Given the description of an element on the screen output the (x, y) to click on. 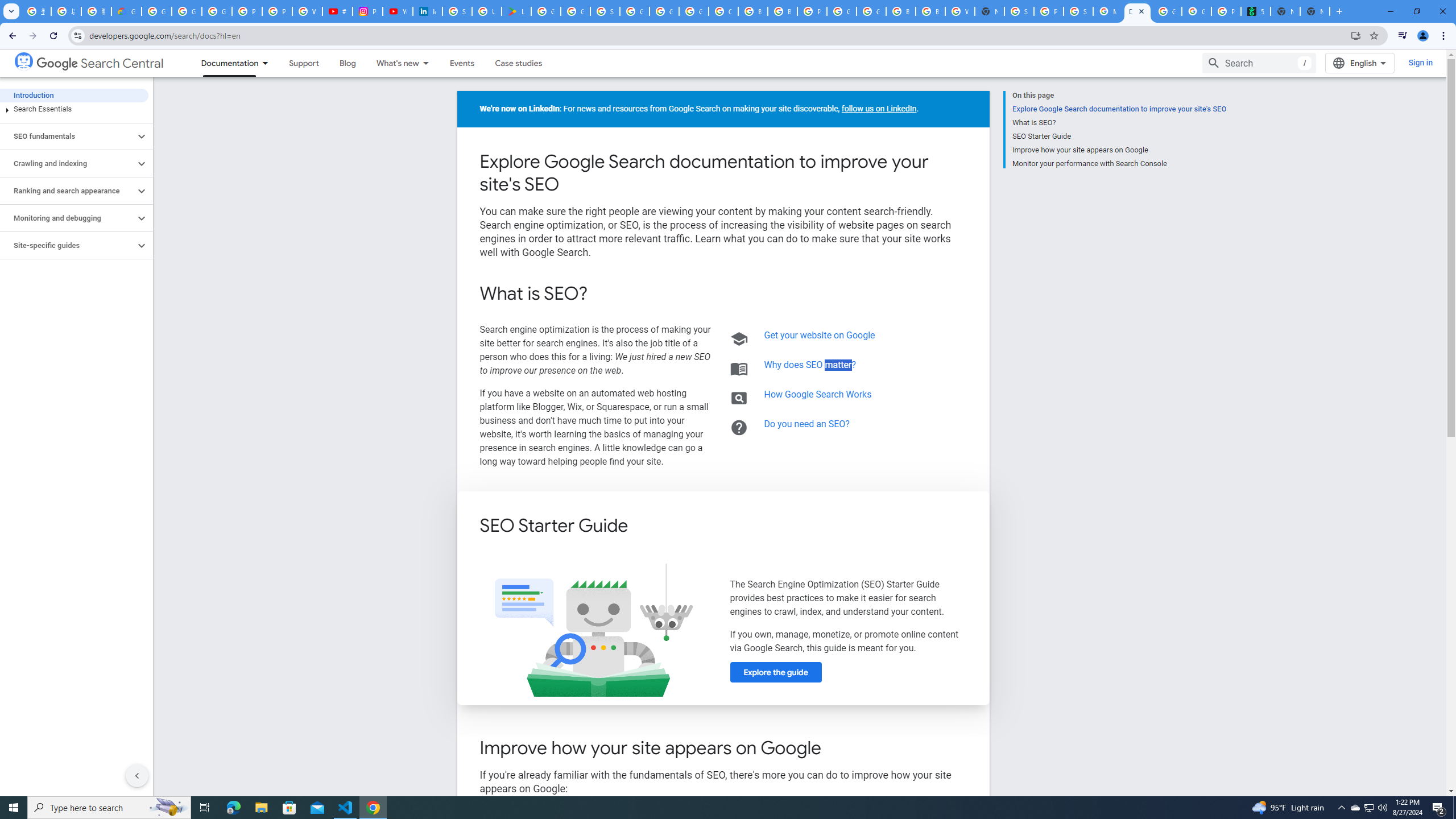
Why does SEO matter? (810, 364)
Google Search Central (23, 60)
Google Workspace - Specific Terms (575, 11)
#nbabasketballhighlights - YouTube (337, 11)
Sign in - Google Accounts (604, 11)
